Given the description of an element on the screen output the (x, y) to click on. 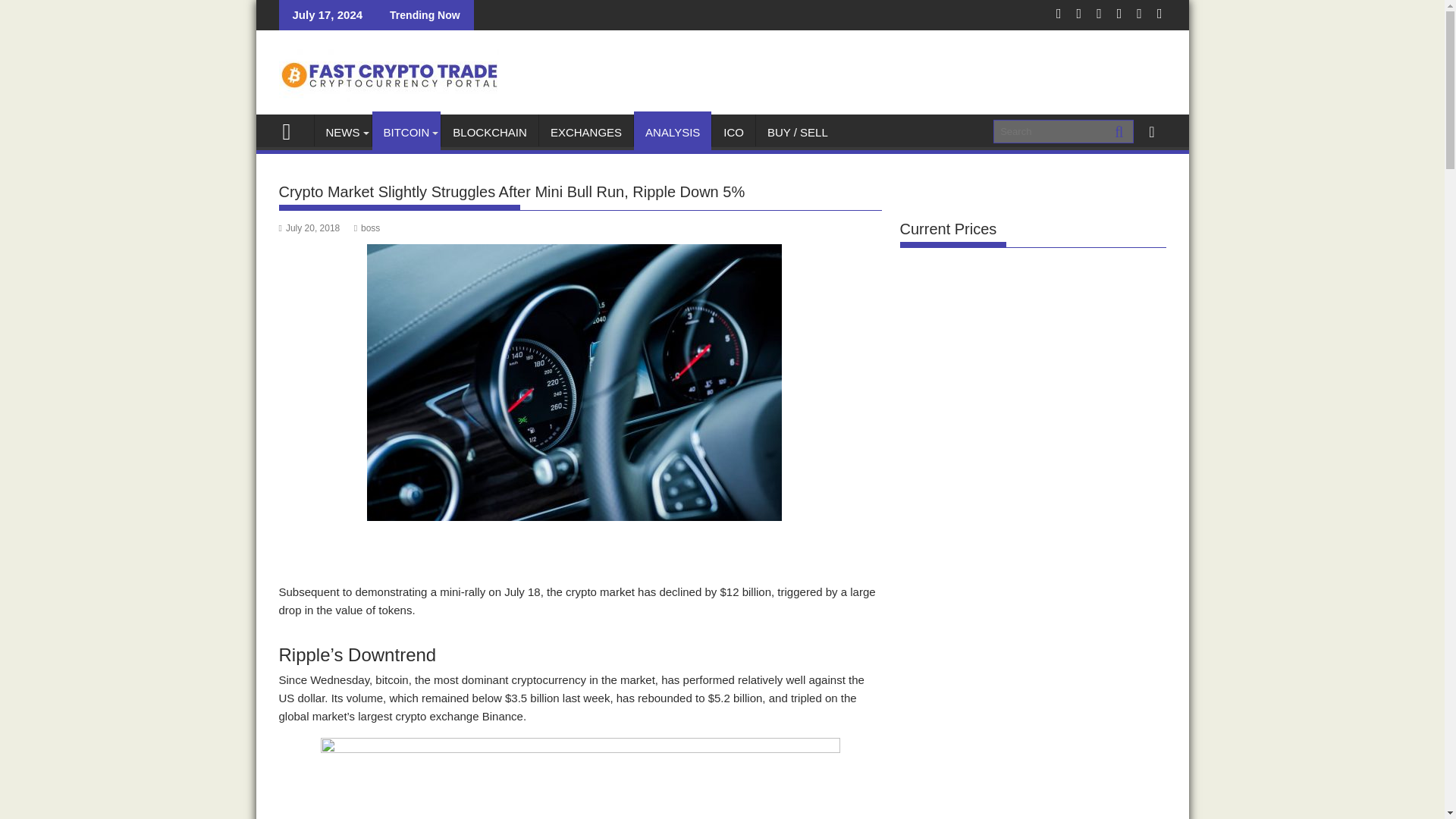
Fast Crypto Trade (293, 129)
BLOCKCHAIN (489, 132)
BITCOIN (406, 132)
ANALYSIS (672, 132)
NEWS (342, 132)
EXCHANGES (585, 132)
ICO (733, 132)
